Given the description of an element on the screen output the (x, y) to click on. 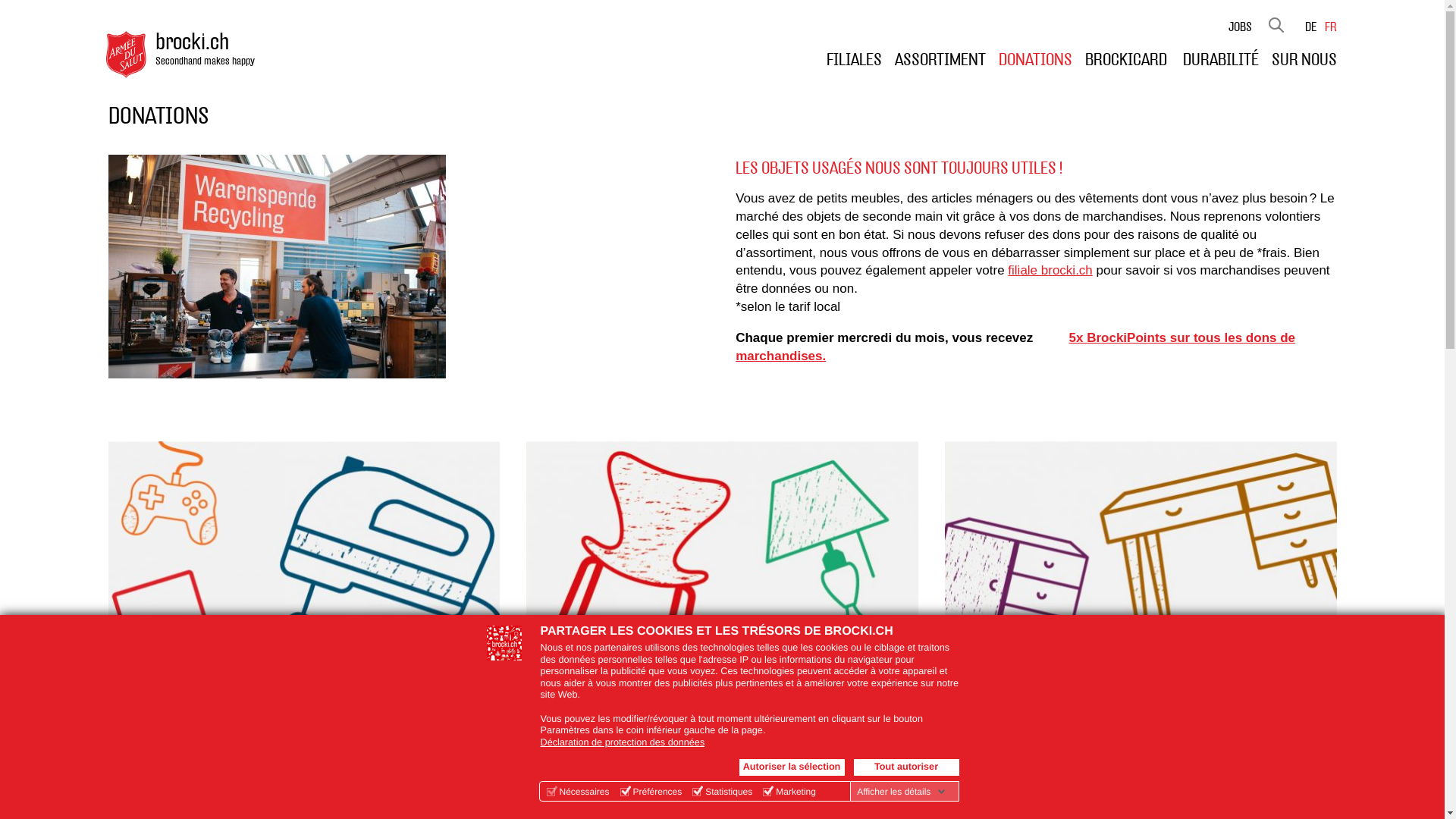
JOBS Element type: text (1240, 27)
filiale brocki.ch Element type: text (1049, 270)
FR Element type: text (1330, 27)
Rechercher Element type: text (1275, 24)
ASSORTIMENT Element type: text (939, 59)
MARCHANDISE Element type: text (302, 582)
DE Element type: text (1309, 27)
BROCKICARD  Element type: text (1126, 59)
brocki.ch
Secondhand makes happy Element type: text (186, 54)
PETIT MOBILIER Element type: text (721, 582)
FILIALES Element type: text (853, 59)
5x BrockiPoints sur tous les dons de marchandises. Element type: text (1015, 346)
DONATIONS Element type: text (1034, 59)
Tout autoriser Element type: text (906, 767)
MEUBLES VOLUMINEUX Element type: text (1140, 582)
SUR NOUS Element type: text (1303, 59)
